Given the description of an element on the screen output the (x, y) to click on. 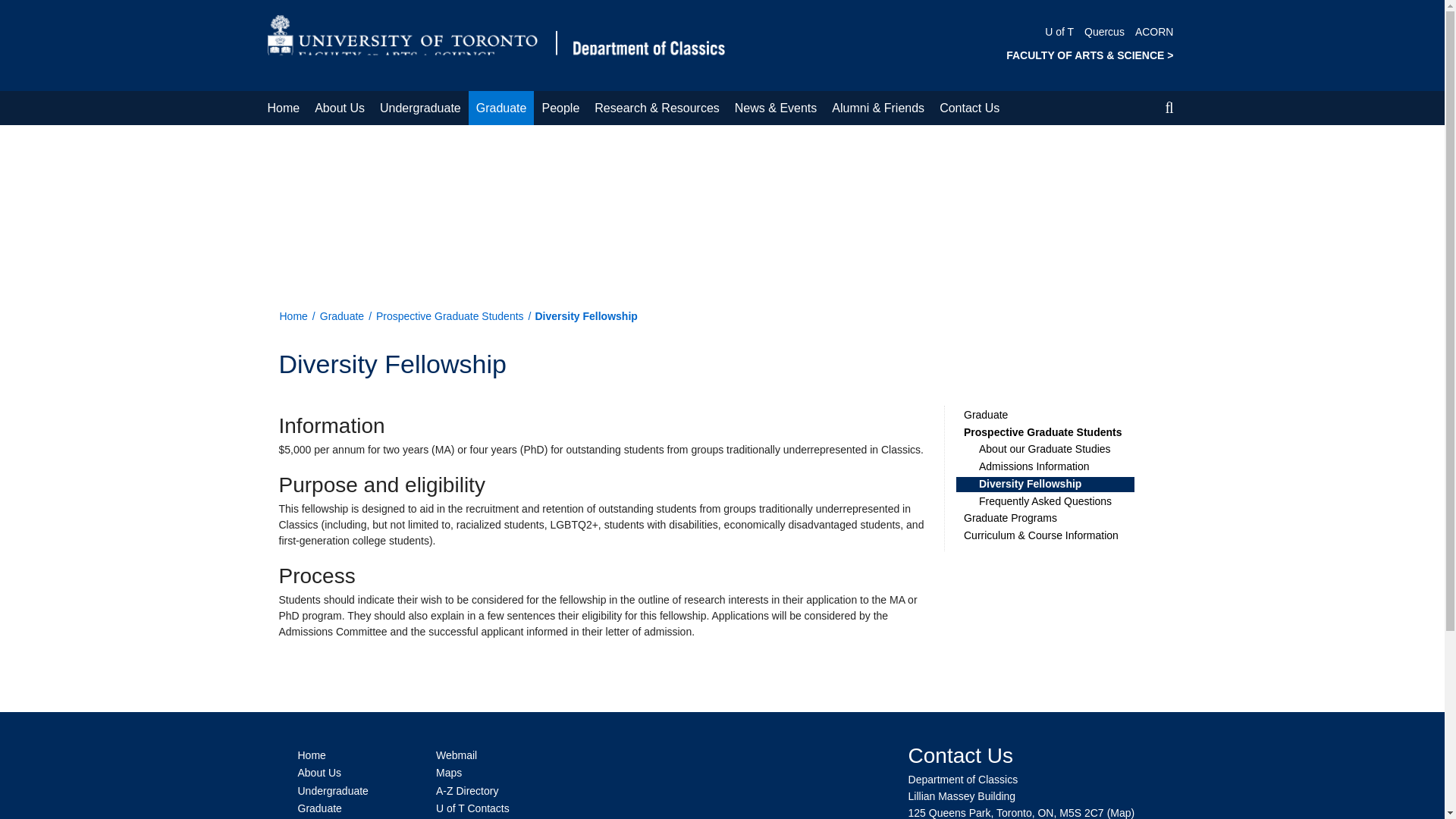
U of T (1059, 31)
About Us (339, 107)
ACORN (1154, 31)
Home (495, 44)
Graduate (501, 107)
Undergraduate (420, 107)
Quercus (1104, 31)
Home (283, 107)
